Given the description of an element on the screen output the (x, y) to click on. 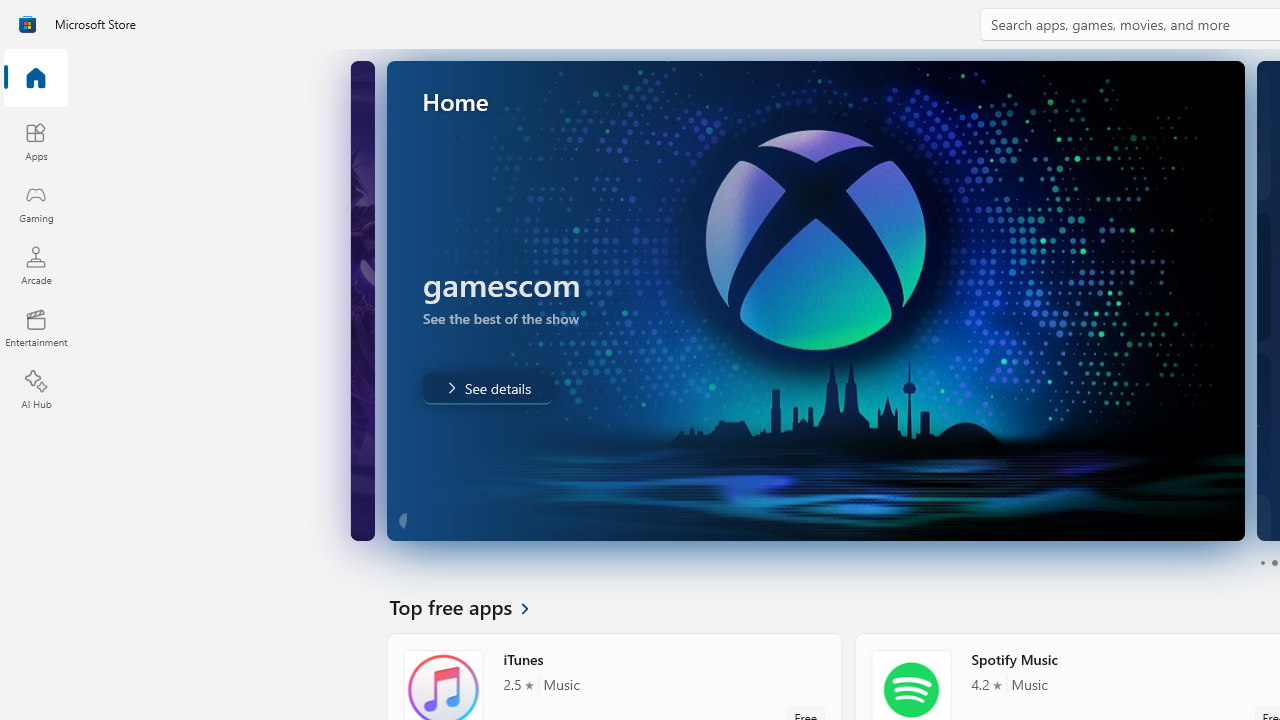
Home (35, 79)
Entertainment (35, 327)
Page 2 (1274, 562)
gamescom. See the best of the show.  . See details (486, 387)
AI Hub (35, 390)
Page 1 (1261, 562)
See all  Top free apps (471, 606)
Gaming (35, 203)
Arcade (35, 265)
AutomationID: Image (815, 300)
Class: Image (27, 24)
Apps (35, 141)
